Given the description of an element on the screen output the (x, y) to click on. 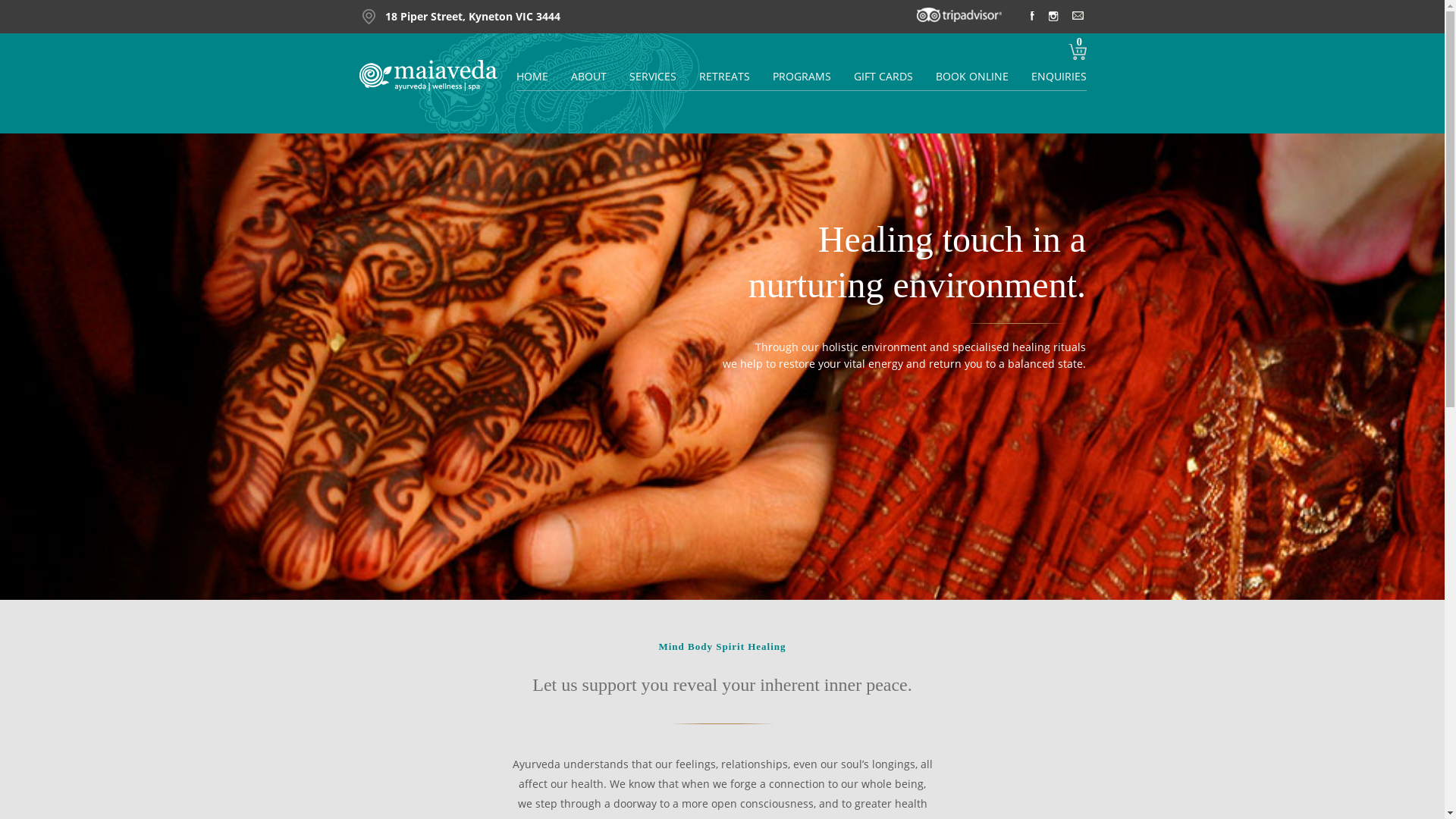
SERVICES Element type: text (652, 76)
HOME Element type: text (531, 76)
  Element type: text (1077, 15)
  Element type: text (1052, 16)
  Element type: text (963, 16)
BOOK ONLINE Element type: text (971, 76)
0 Element type: text (1079, 41)
GIFT CARDS Element type: text (883, 76)
PROGRAMS Element type: text (800, 76)
ENQUIRIES Element type: text (1058, 76)
RETREATS Element type: text (724, 76)
  Element type: text (1031, 16)
ABOUT Element type: text (587, 76)
